Given the description of an element on the screen output the (x, y) to click on. 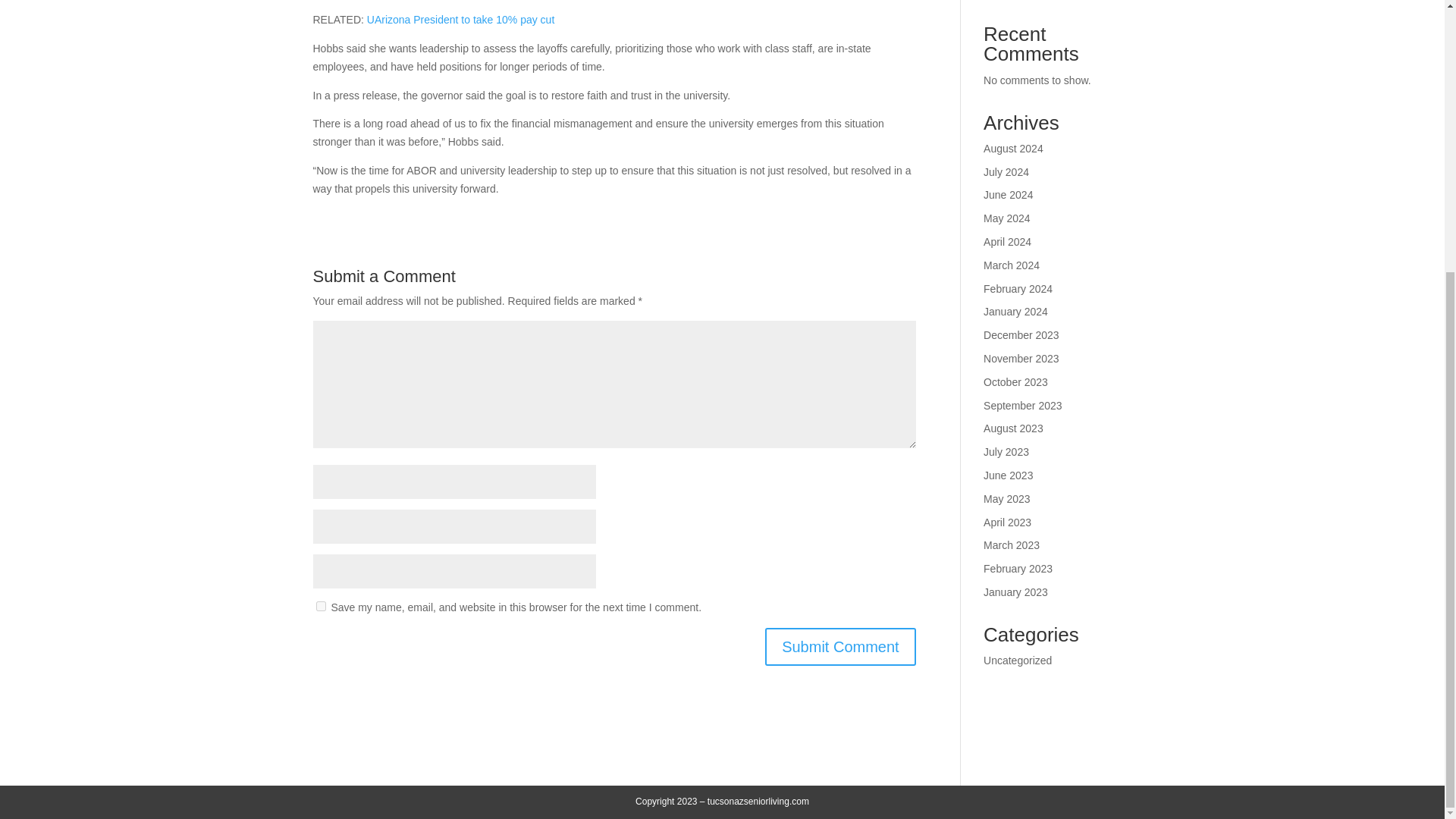
August 2023 (1013, 428)
July 2023 (1006, 451)
Submit Comment (840, 646)
April 2023 (1007, 521)
Uncategorized (1017, 660)
August 2024 (1013, 148)
February 2023 (1018, 568)
Submit Comment (840, 646)
March 2024 (1011, 265)
July 2024 (1006, 172)
